Given the description of an element on the screen output the (x, y) to click on. 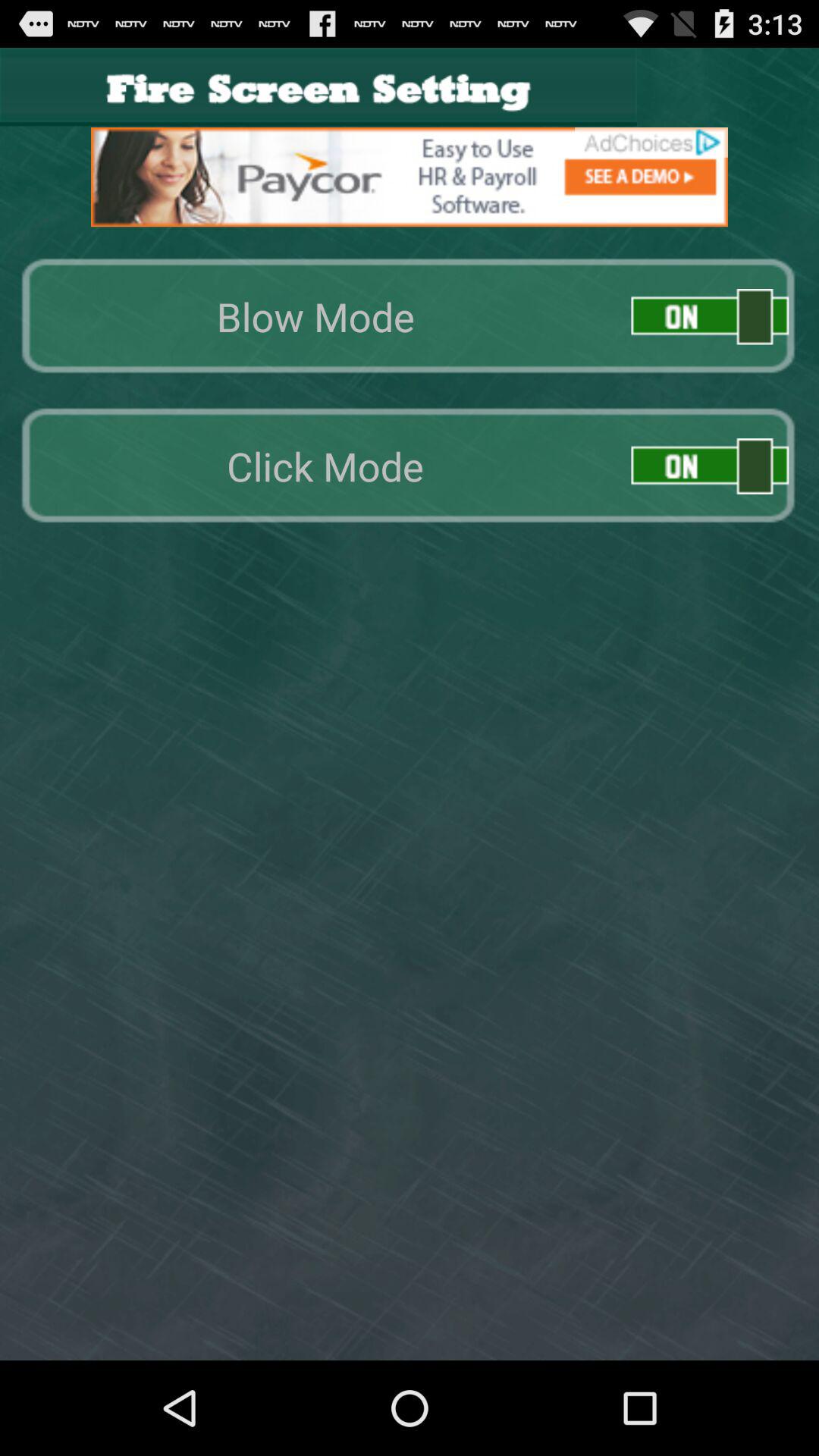
advisement (409, 176)
